Given the description of an element on the screen output the (x, y) to click on. 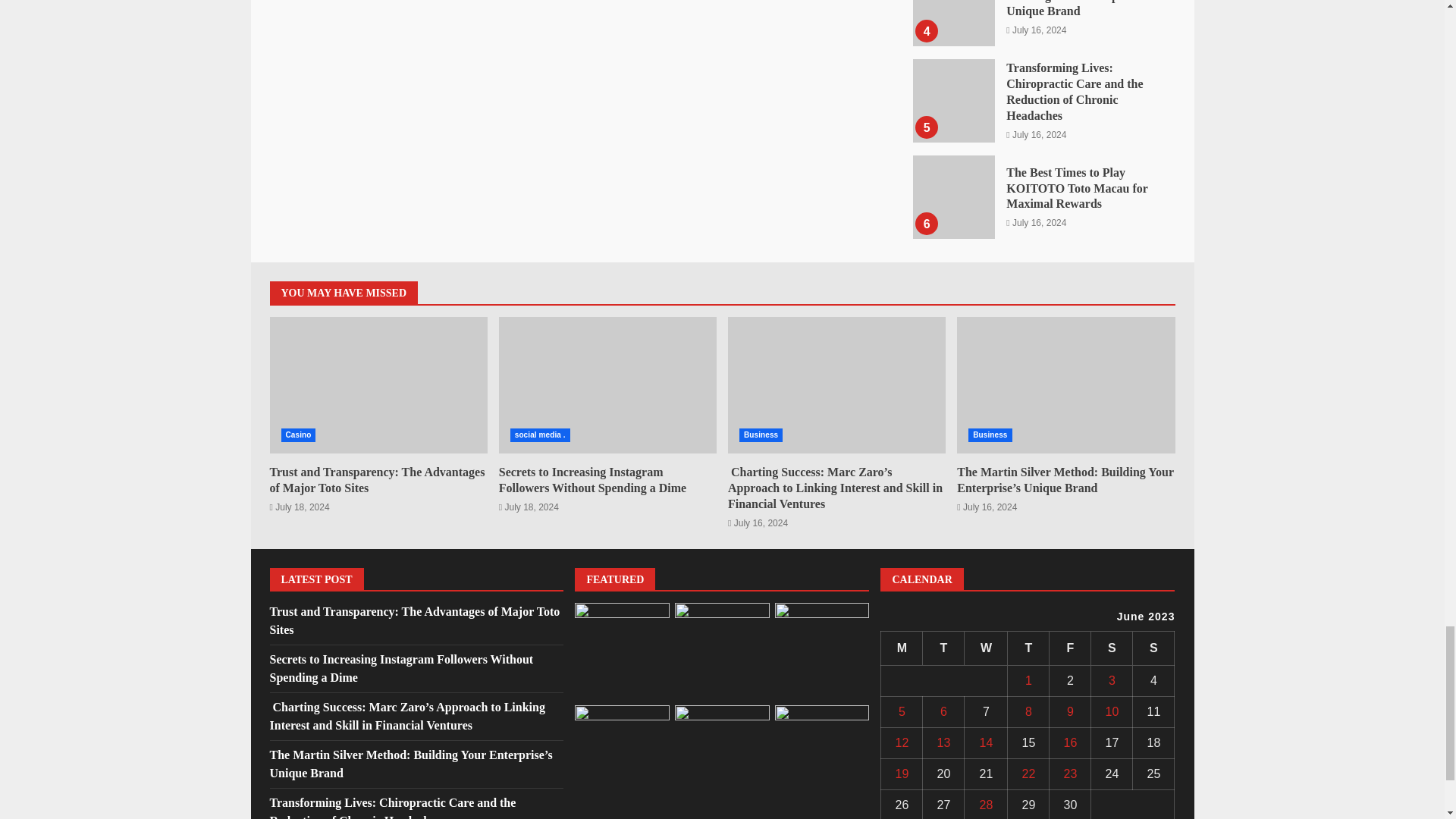
Saturday (1111, 648)
Monday (901, 648)
Friday (1069, 648)
Thursday (1028, 648)
Sunday (1153, 648)
Wednesday (985, 648)
Tuesday (943, 648)
